Given the description of an element on the screen output the (x, y) to click on. 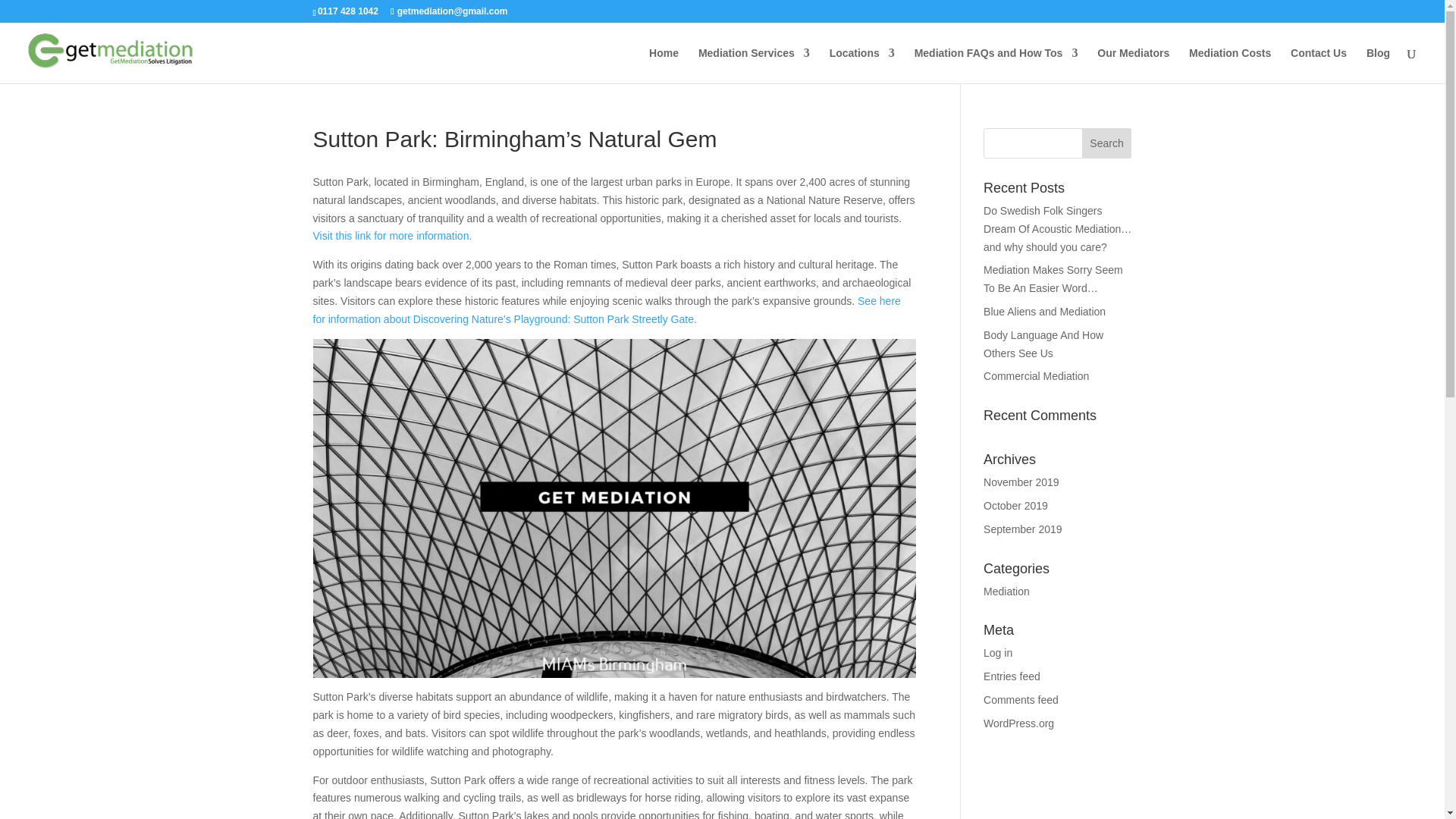
Mediation FAQs and How Tos (996, 65)
Mediation Services (753, 65)
Contact Us (1318, 65)
Mediation Costs (1230, 65)
Our Mediators (1133, 65)
Search (1106, 142)
Locations (862, 65)
